Given the description of an element on the screen output the (x, y) to click on. 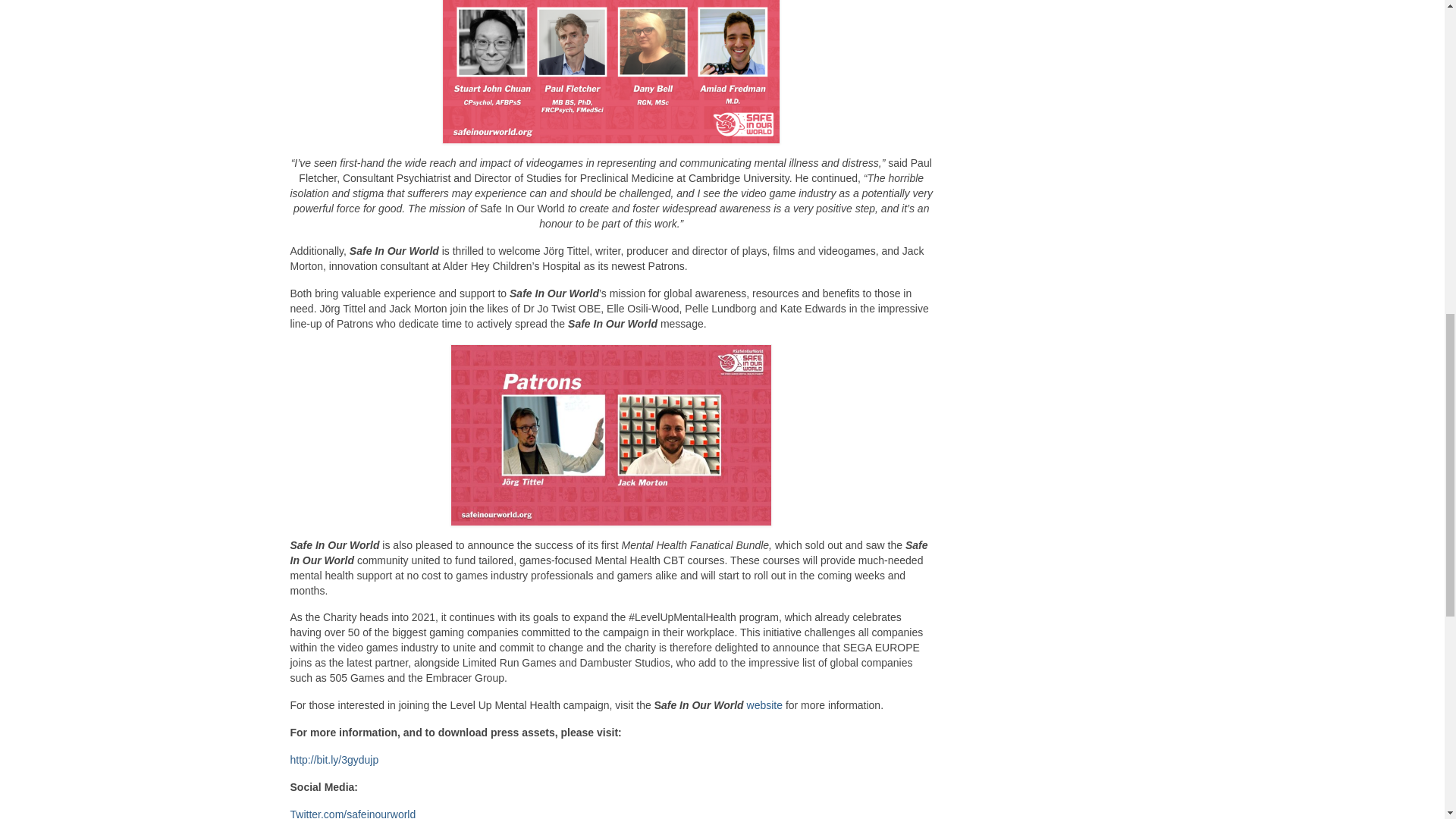
website (764, 705)
